Given the description of an element on the screen output the (x, y) to click on. 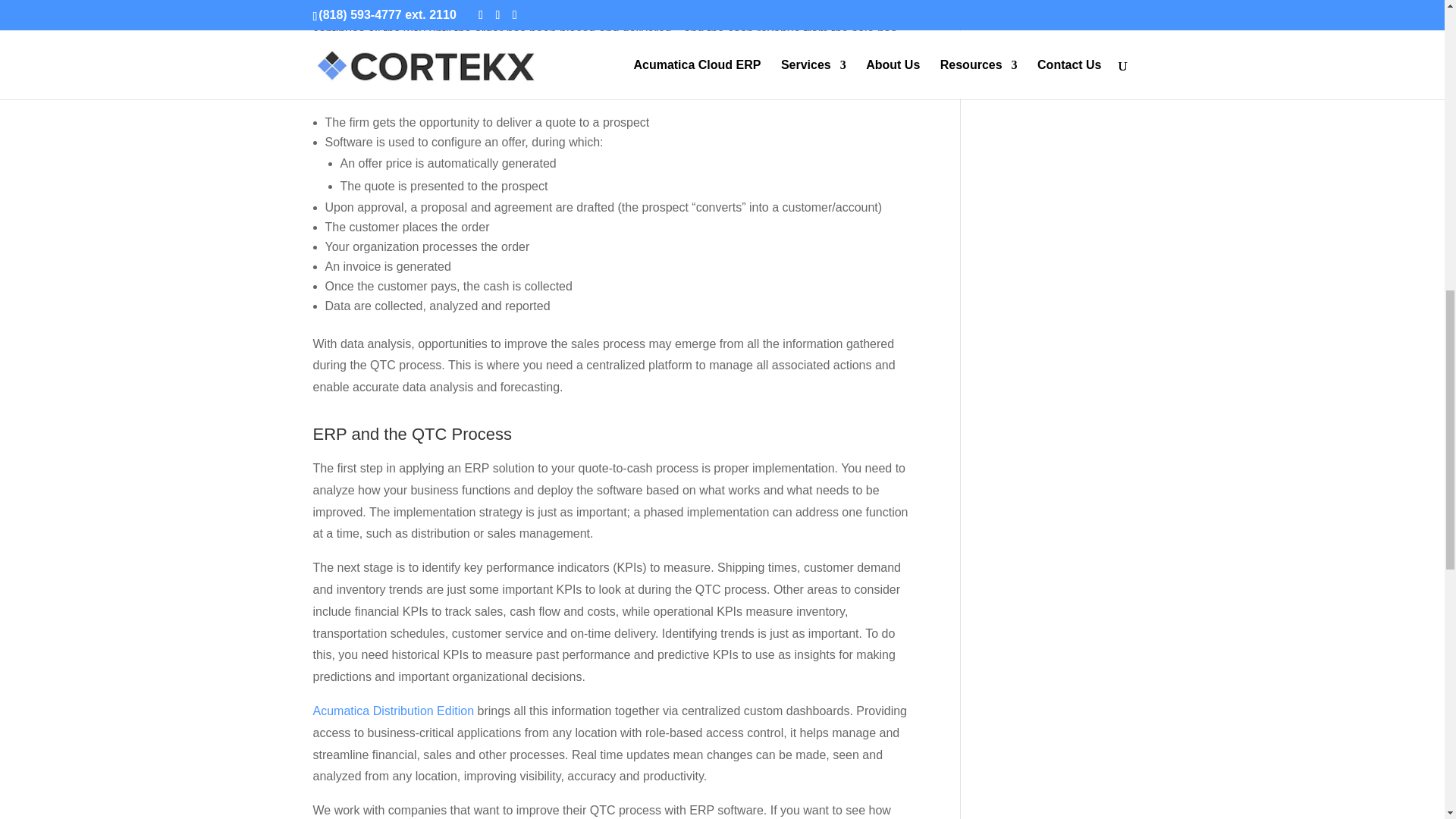
Acumatica Distribution Edition (393, 710)
